Given the description of an element on the screen output the (x, y) to click on. 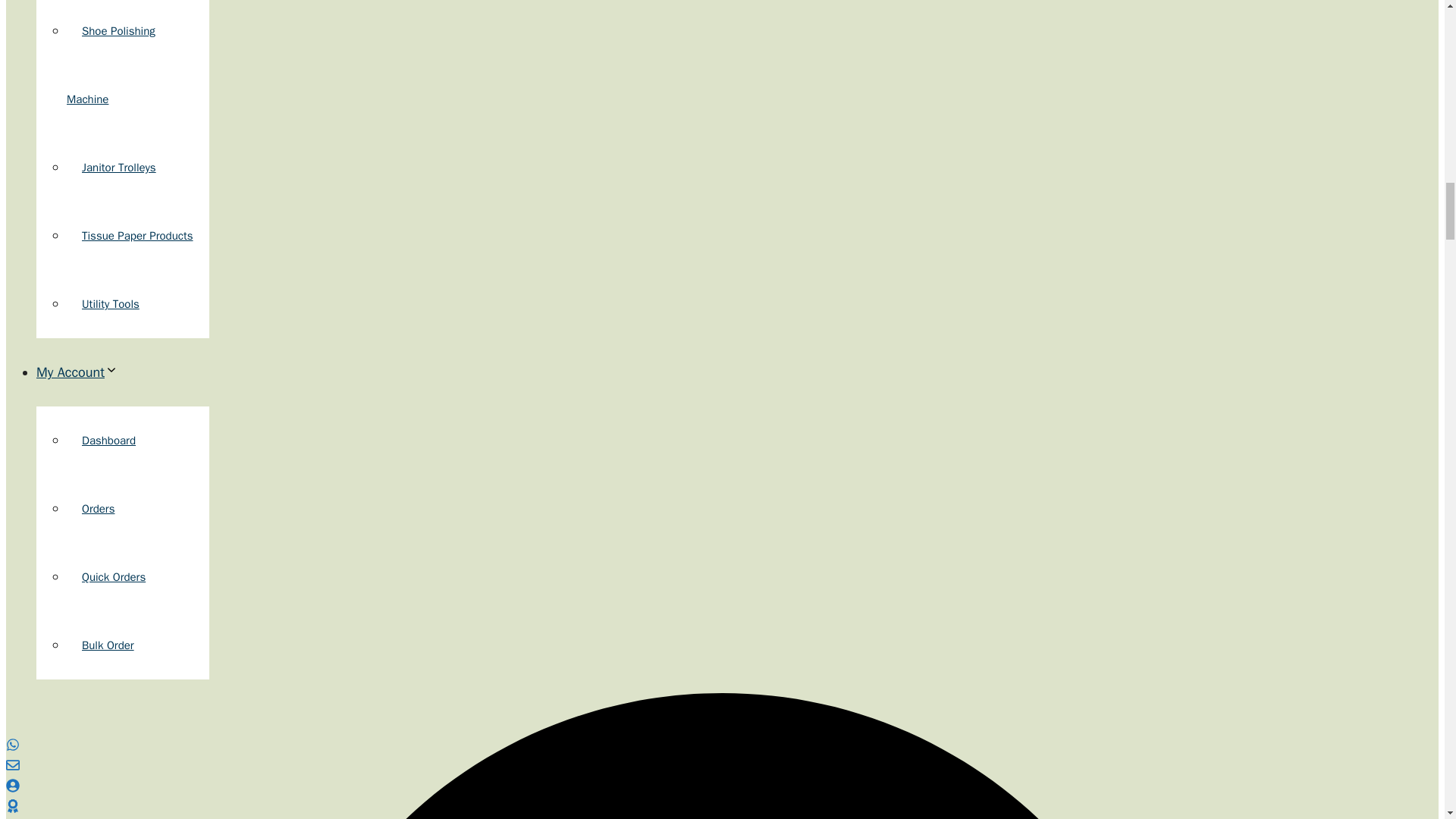
Bulk Order (107, 645)
Utility Tools (110, 303)
Janitor Trolleys (118, 167)
Quick Orders (113, 576)
My Account (76, 371)
Shoe Polishing Machine (110, 65)
Dashboard (108, 440)
Tissue Paper Products (137, 235)
Orders (97, 508)
